Given the description of an element on the screen output the (x, y) to click on. 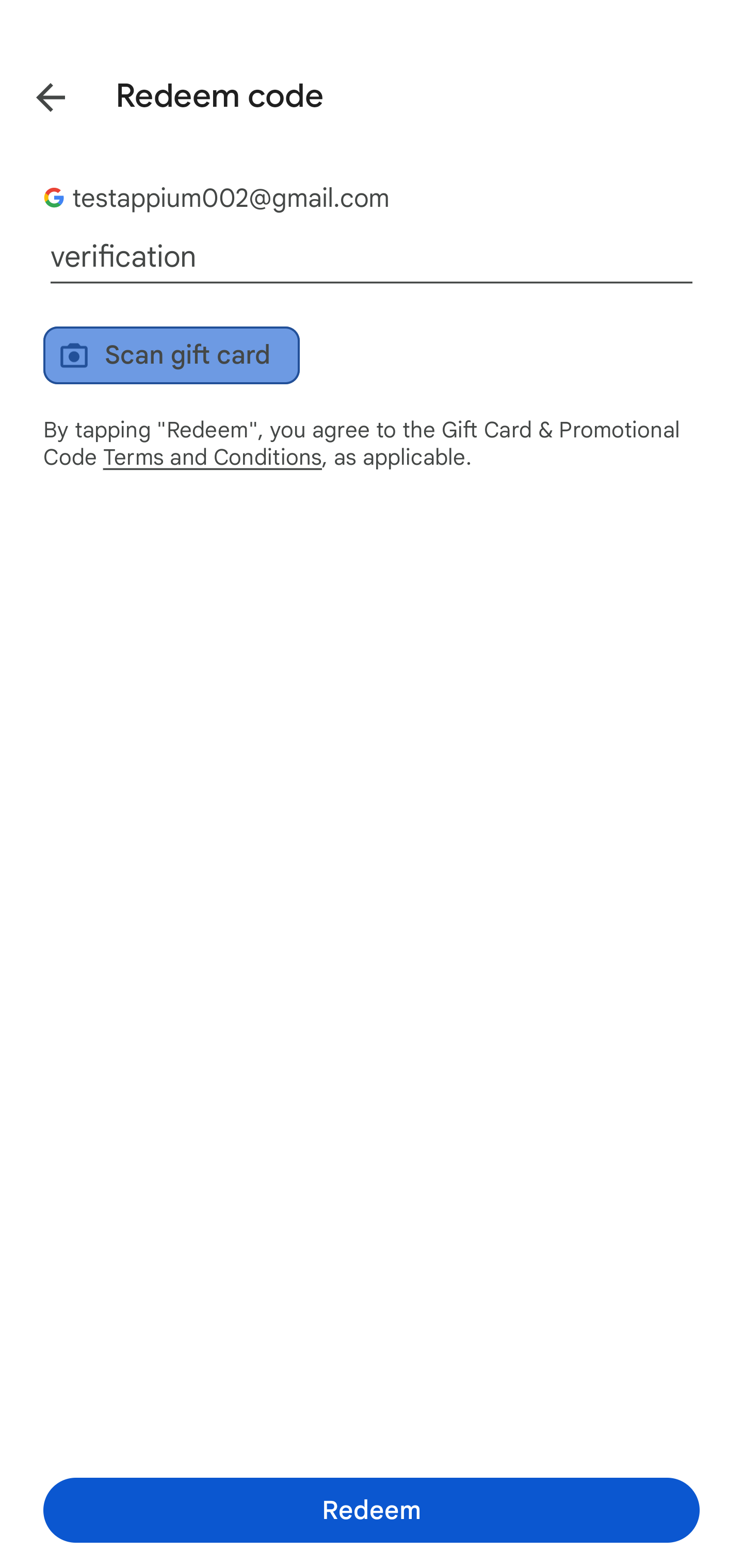
Back (36, 94)
verification (371, 256)
Scan gift card (171, 355)
Redeem (371, 1509)
